Given the description of an element on the screen output the (x, y) to click on. 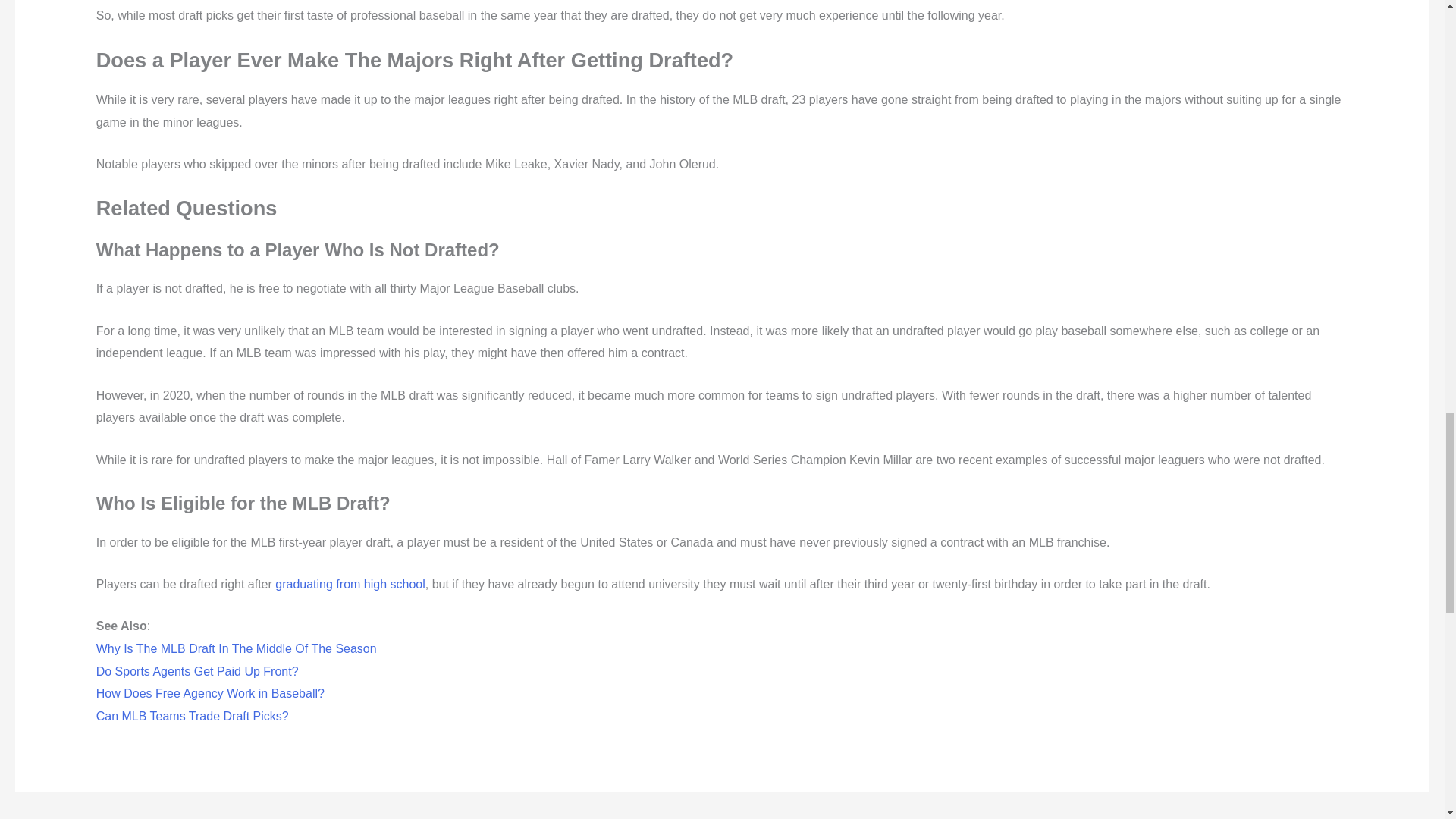
graduating from high school (350, 584)
Why Is The MLB Draft In The Middle Of The Season (236, 648)
Do Sports Agents Get Paid Up Front? (197, 671)
How Does Free Agency Work in Baseball? (210, 693)
Can MLB Teams Trade Draft Picks? (192, 716)
